Given the description of an element on the screen output the (x, y) to click on. 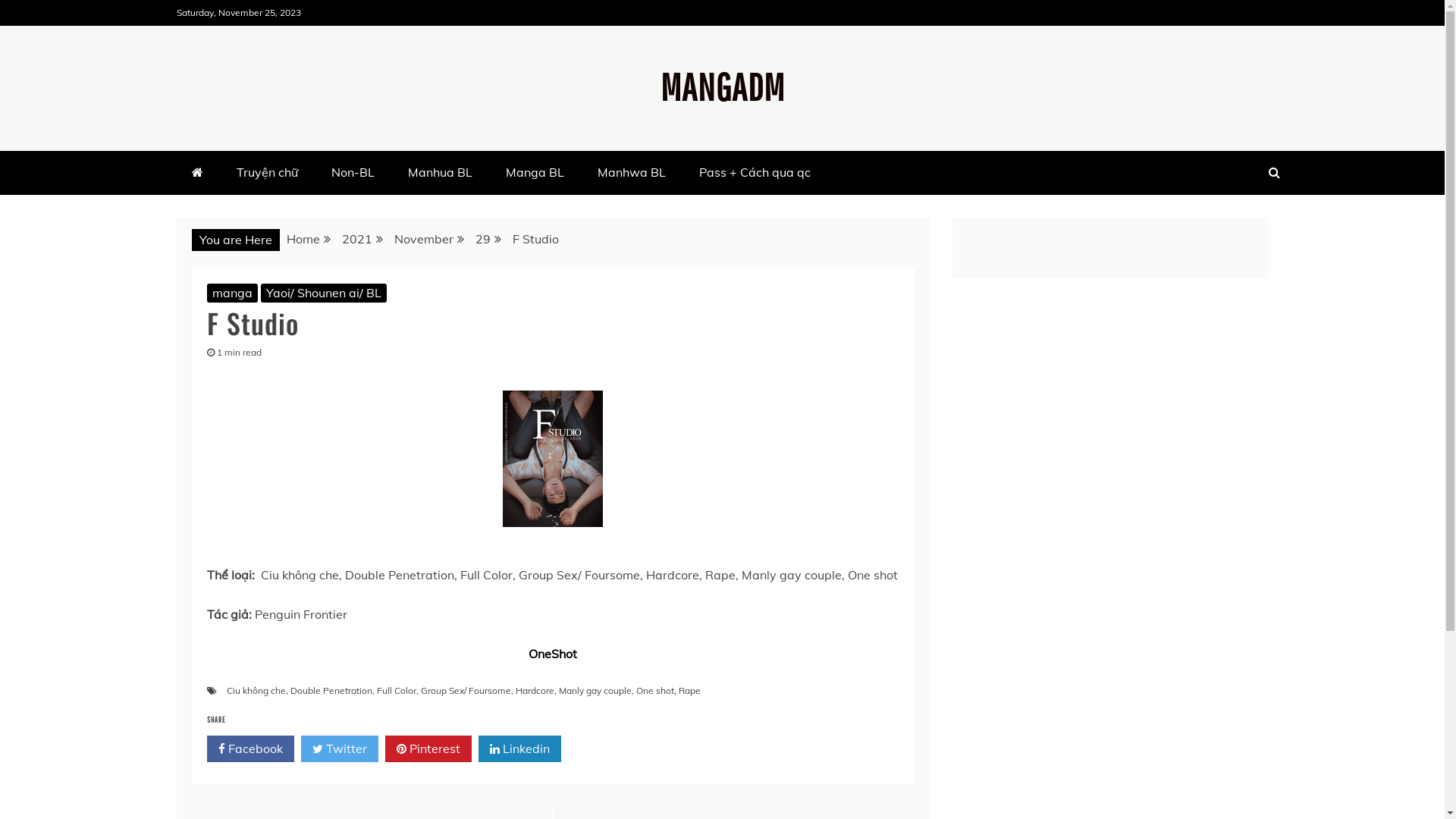
Facebook Element type: text (249, 748)
Manhwa BL Element type: text (631, 172)
Manga BL Element type: text (533, 172)
Twitter Element type: text (338, 748)
manga Element type: text (231, 292)
Yaoi/ Shounen ai/ BL Element type: text (323, 292)
Full Color Element type: text (395, 690)
OneShot Element type: text (552, 653)
Linkedin Element type: text (518, 748)
November Element type: text (423, 238)
2021 Element type: text (356, 238)
Manhua BL Element type: text (439, 172)
Home Element type: text (303, 238)
Rape Element type: text (688, 690)
Group Sex/ Foursome Element type: text (465, 690)
Pinterest Element type: text (428, 748)
Non-BL Element type: text (352, 172)
29 Element type: text (481, 238)
One shot Element type: text (654, 690)
Double Penetration Element type: text (330, 690)
MANGADM Element type: text (721, 86)
Hardcore Element type: text (534, 690)
Manly gay couple Element type: text (594, 690)
